Given the description of an element on the screen output the (x, y) to click on. 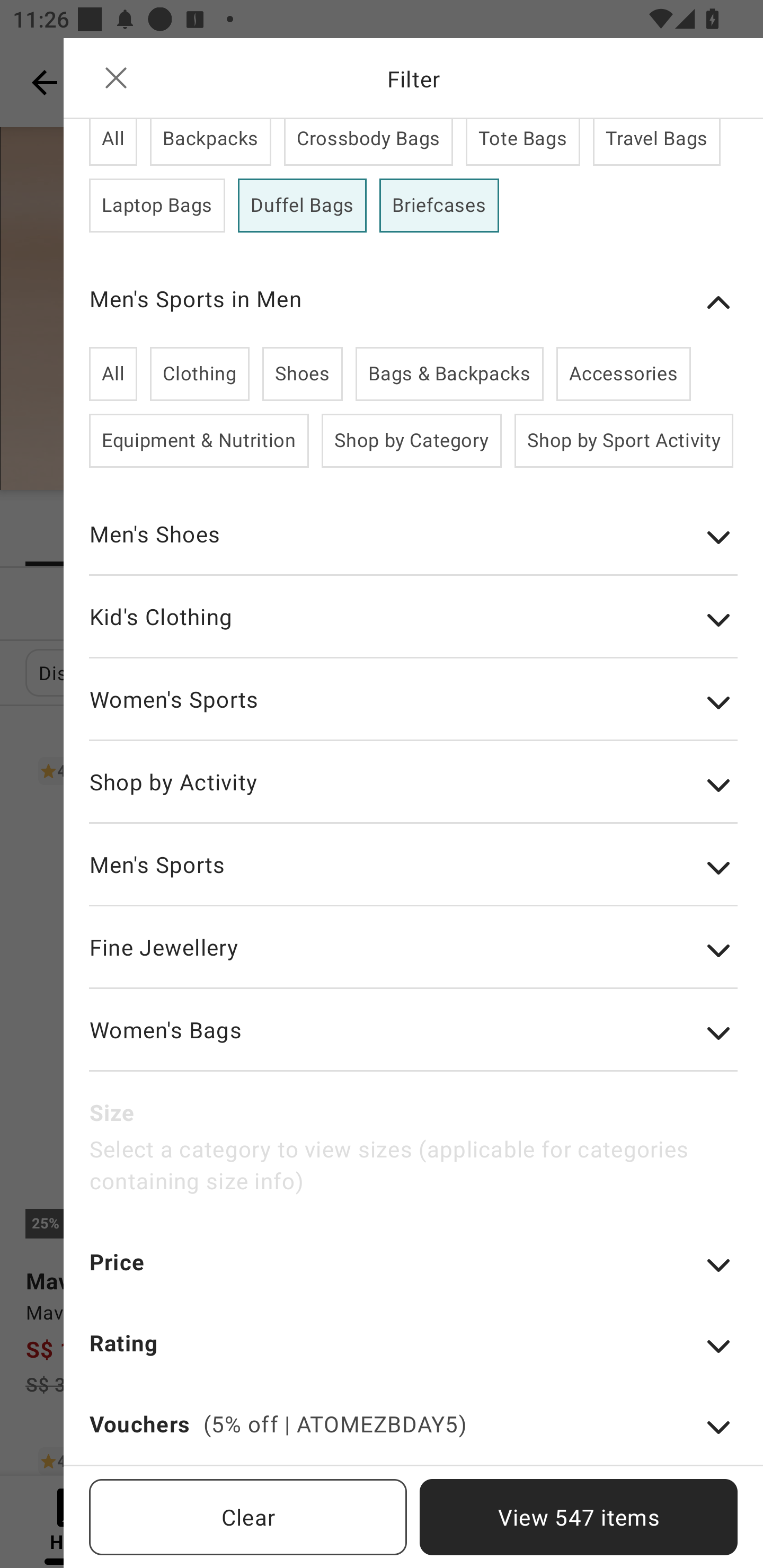
All (113, 142)
Backpacks (210, 142)
Crossbody Bags (368, 142)
Tote Bags (522, 142)
Travel Bags (656, 142)
Laptop Bags (157, 205)
Duffel Bags (302, 205)
Briefcases (439, 205)
Men's Sports in Men (413, 302)
All (113, 373)
Clothing (199, 373)
Shoes (302, 373)
Bags & Backpacks (449, 373)
Accessories (623, 373)
Equipment & Nutrition (199, 440)
Shop by Category (411, 440)
Shop by Sport Activity (623, 440)
Men's Shoes (413, 547)
Kid's Clothing (413, 629)
Women's Sports (413, 712)
Shop by Activity (413, 794)
Men's Sports (413, 877)
Fine Jewellery (413, 960)
Women's Bags (413, 1042)
Price (413, 1273)
Rating (413, 1355)
Vouchers (5% off | ATOMEZBDAY5) (413, 1436)
Clear (247, 1516)
View 547 items (578, 1516)
